Given the description of an element on the screen output the (x, y) to click on. 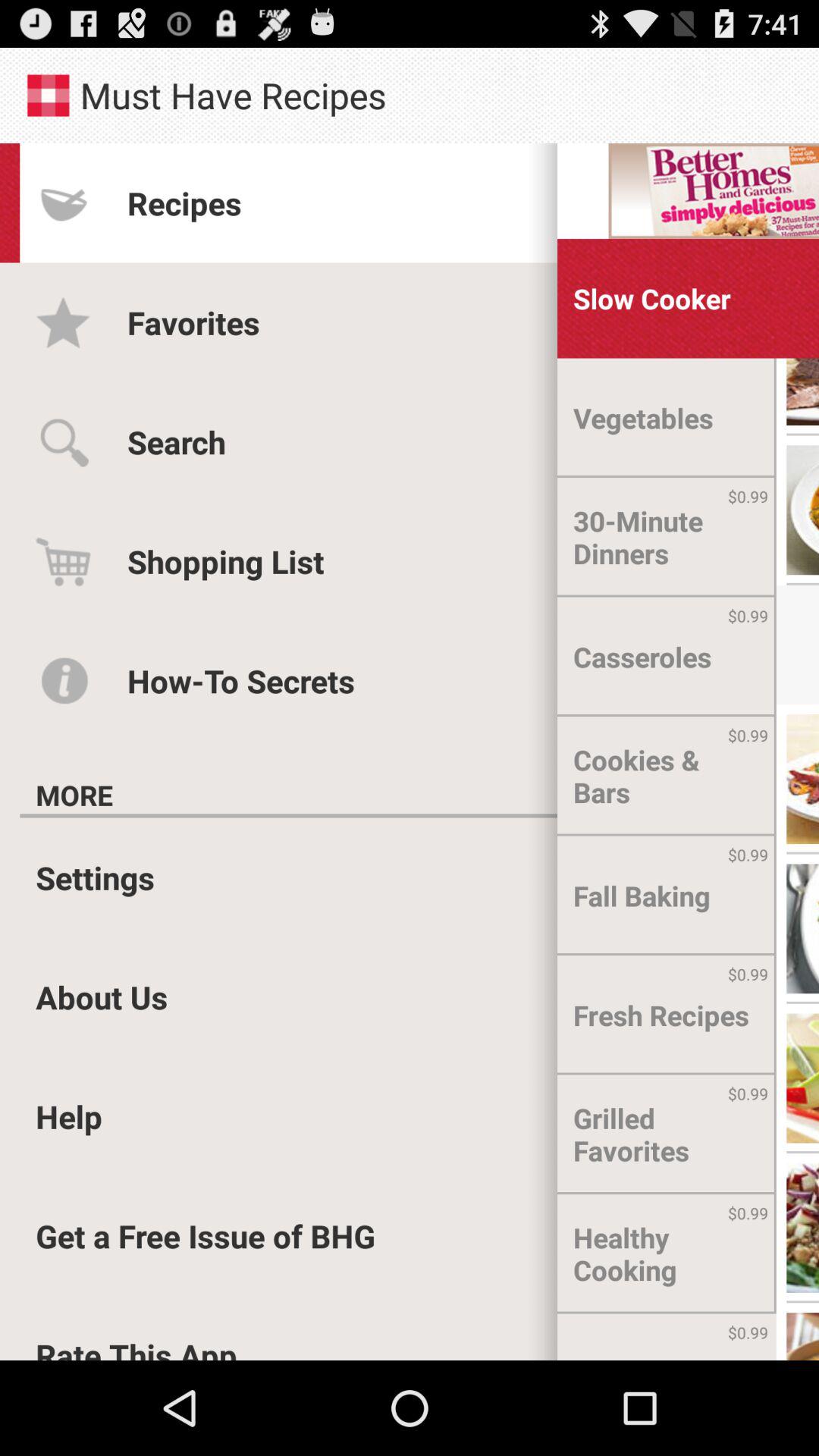
press icon above the how-to secrets icon (225, 560)
